Given the description of an element on the screen output the (x, y) to click on. 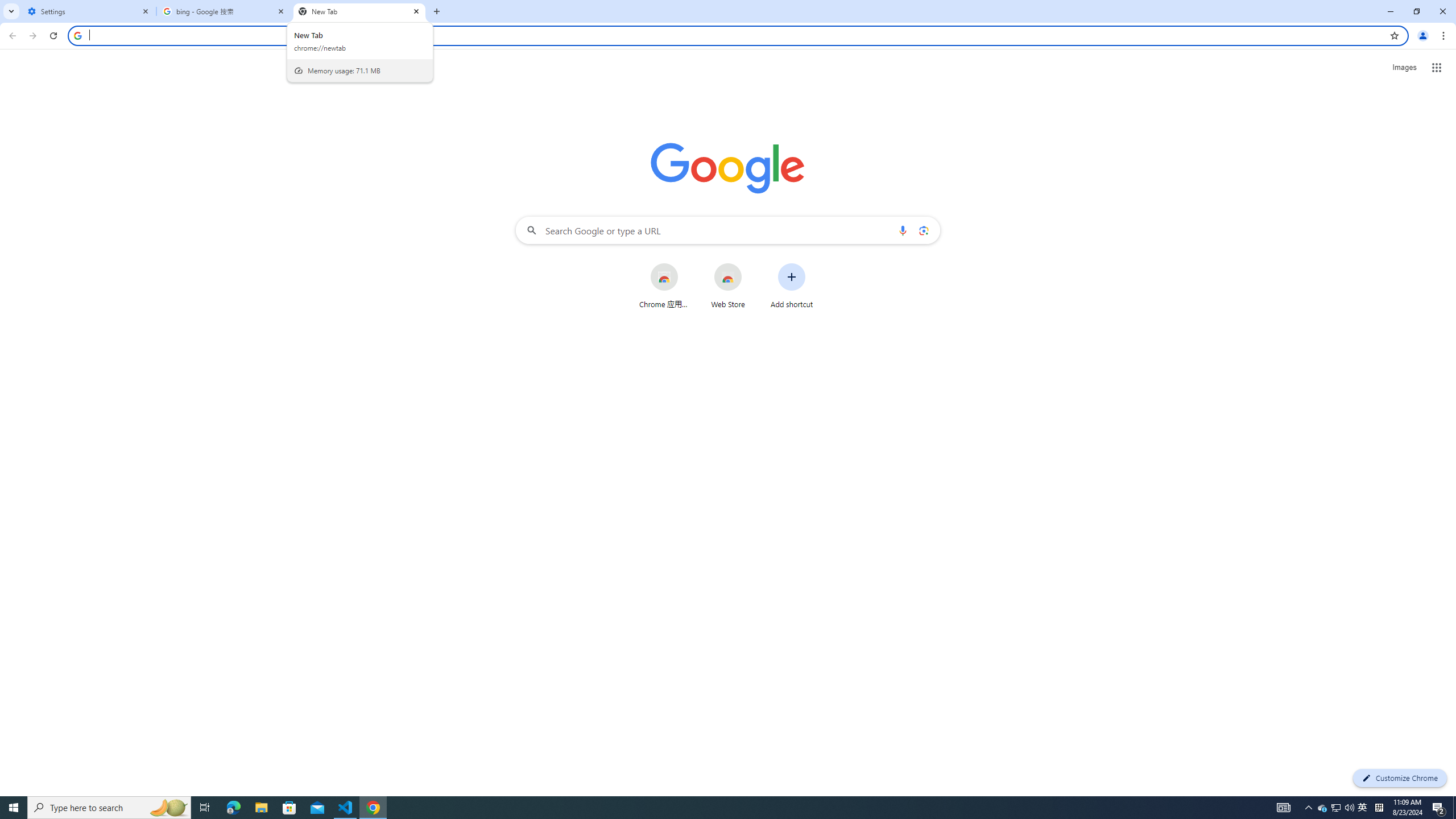
New Tab (359, 11)
